Given the description of an element on the screen output the (x, y) to click on. 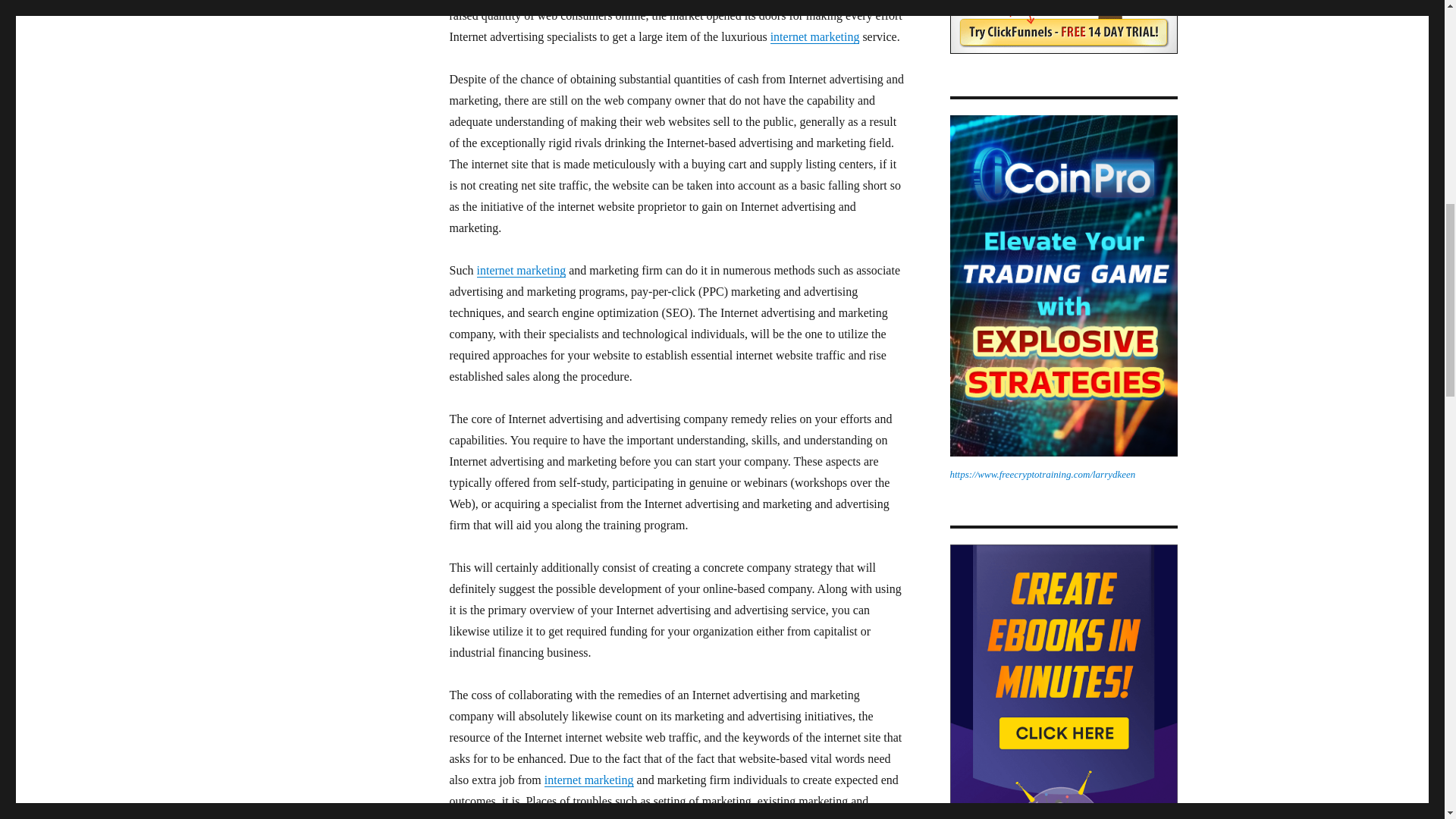
internet marketing (815, 36)
internet marketing (521, 269)
internet marketing (588, 779)
